Given the description of an element on the screen output the (x, y) to click on. 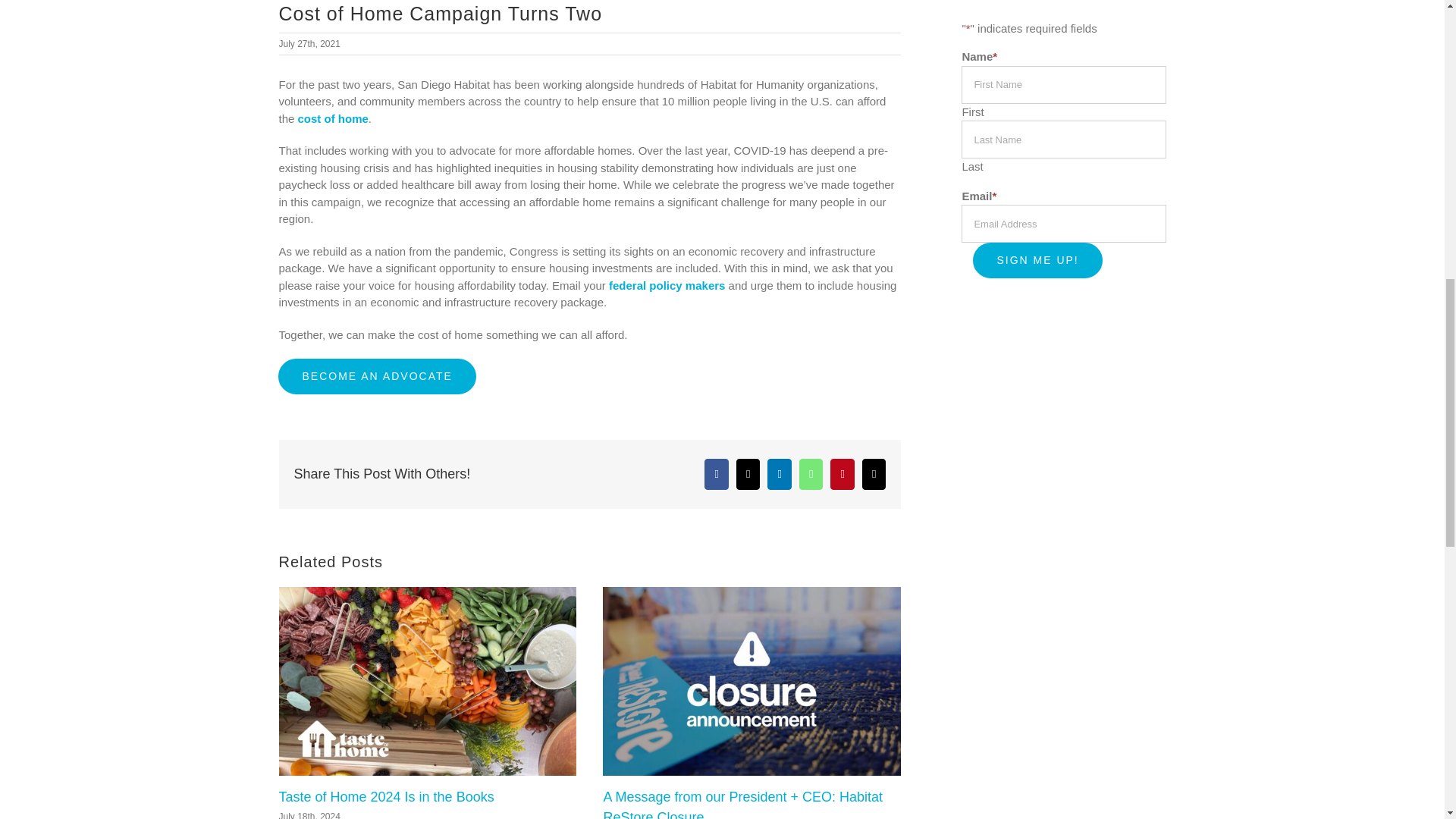
sign me up! (1037, 260)
Taste of Home 2024 Is in the Books (387, 796)
